Given the description of an element on the screen output the (x, y) to click on. 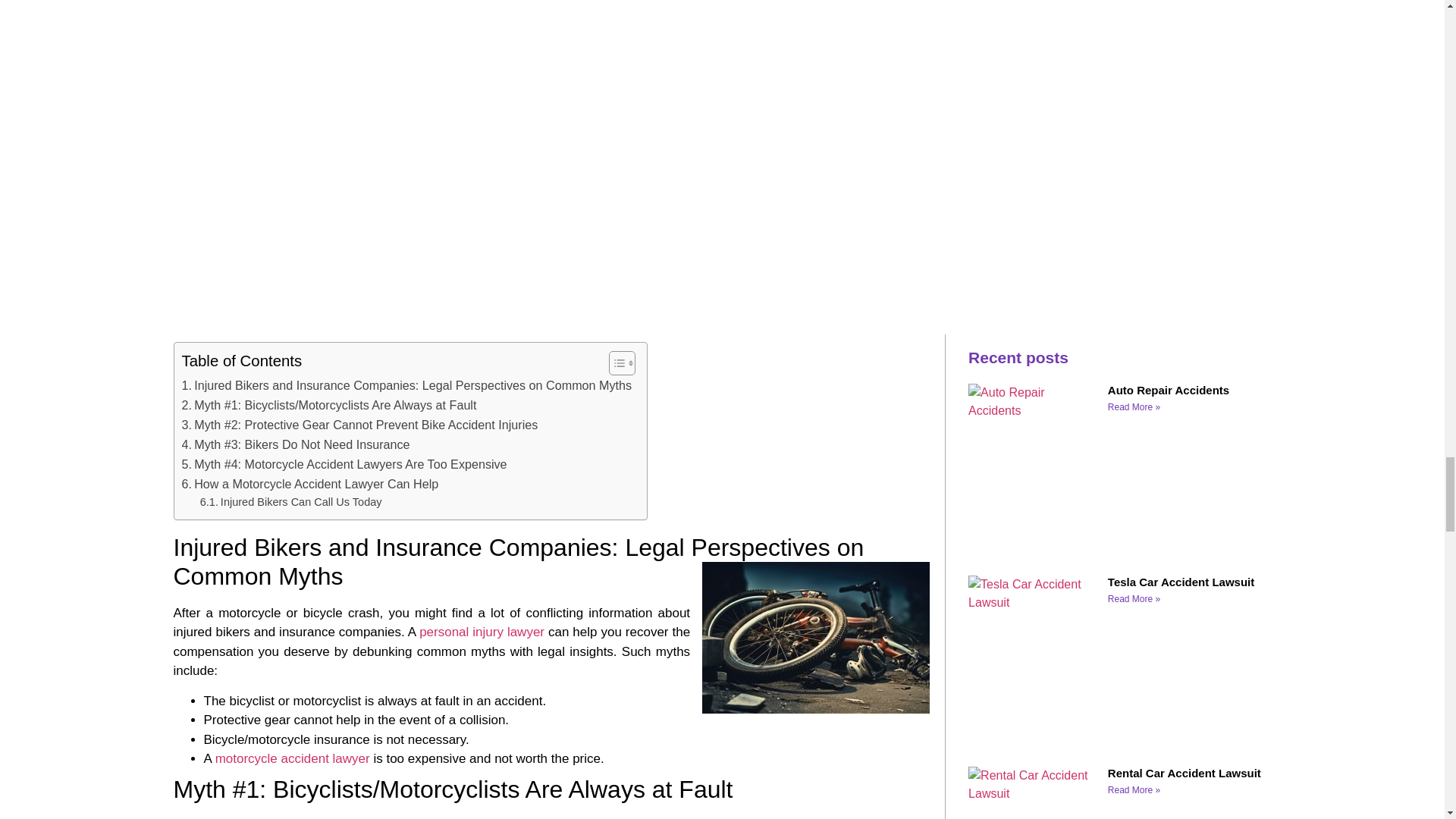
Injured Bikers Can Call Us Today (290, 502)
How a Motorcycle Accident Lawyer Can Help (310, 484)
